Given the description of an element on the screen output the (x, y) to click on. 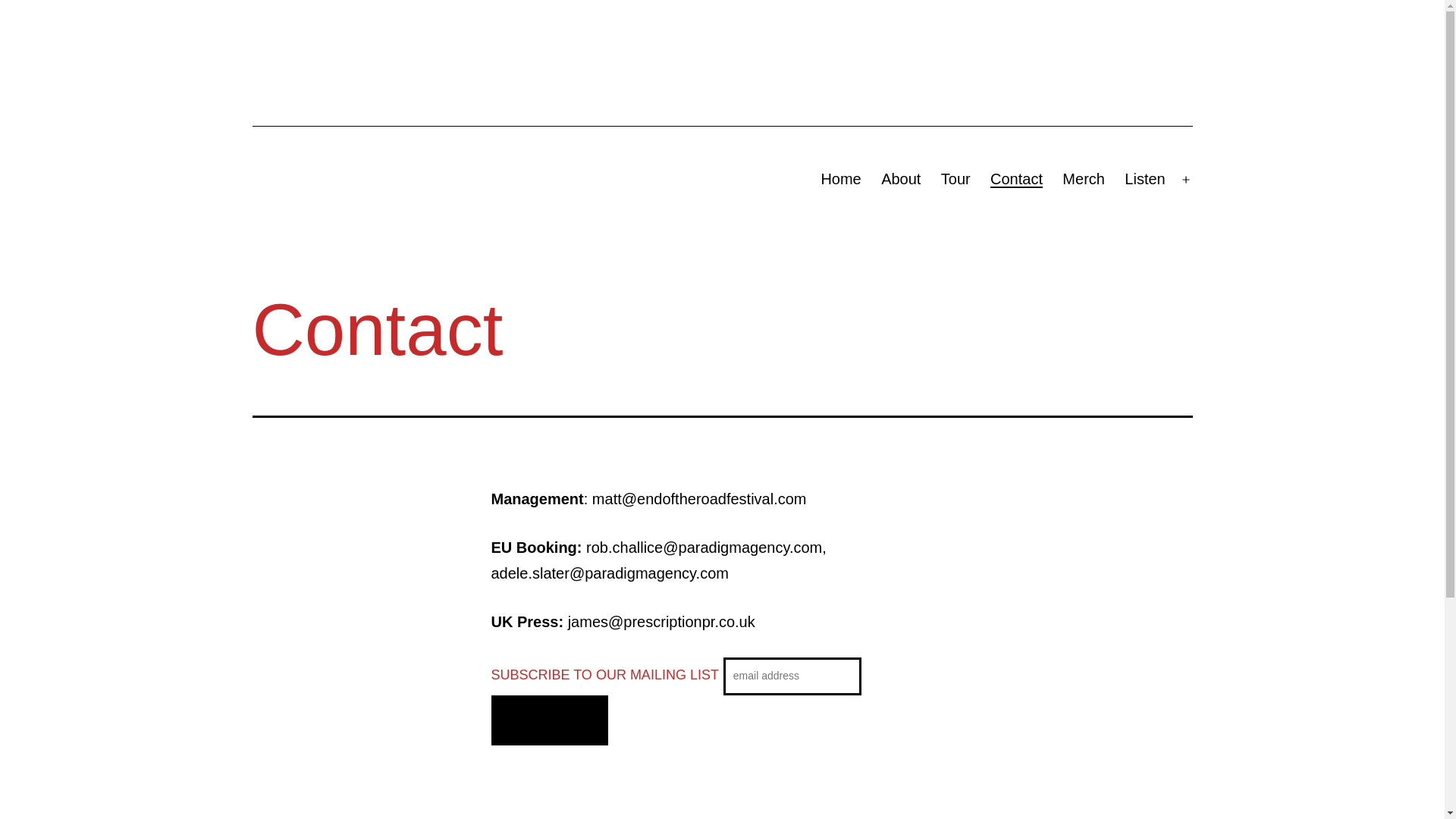
Home Element type: text (840, 179)
Open menu Element type: text (1185, 179)
Subscribe Element type: text (549, 720)
Merch Element type: text (1083, 179)
Tour Element type: text (955, 179)
Contact Element type: text (1016, 179)
About Element type: text (901, 179)
Listen Element type: text (1144, 179)
